Given the description of an element on the screen output the (x, y) to click on. 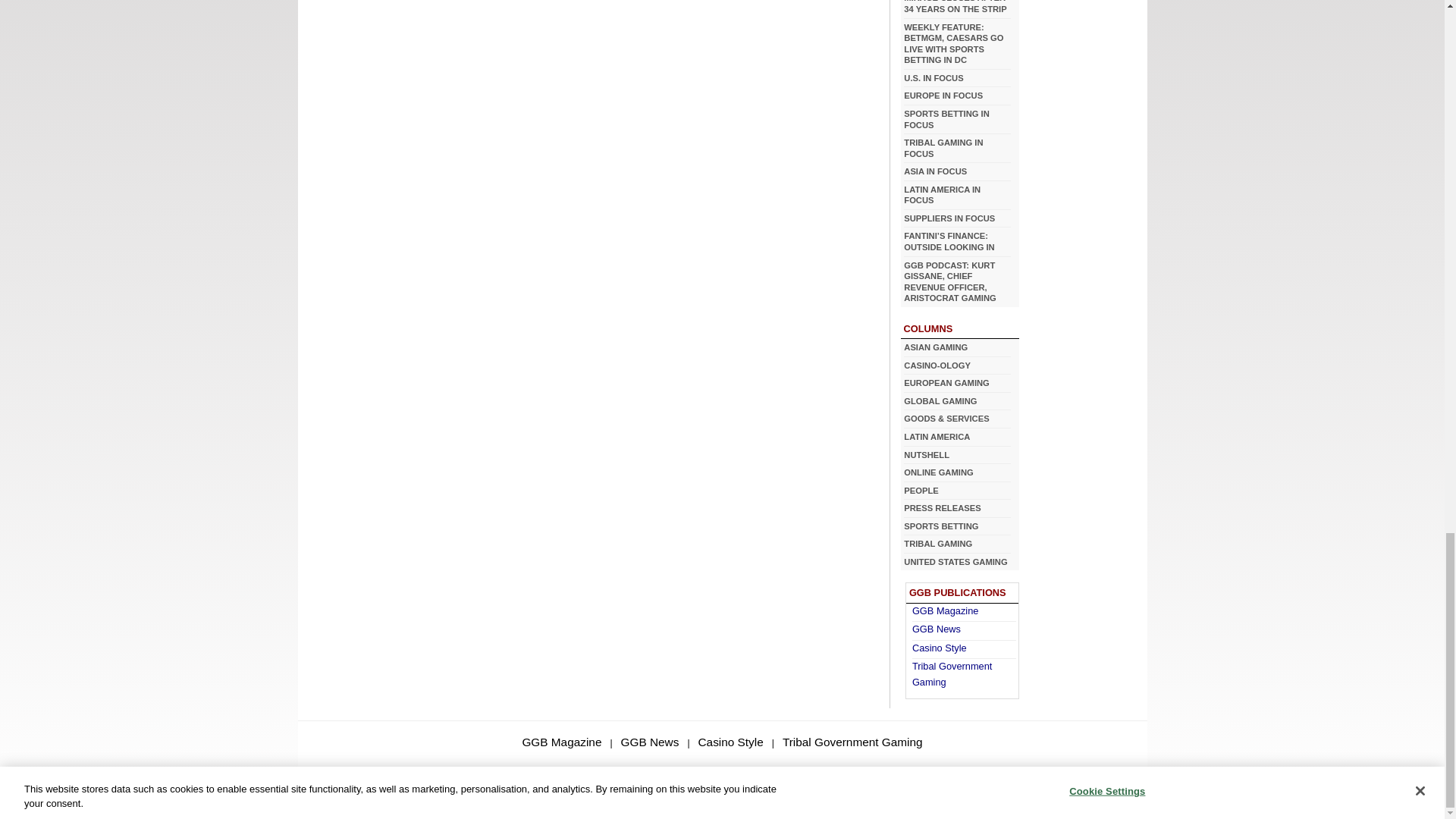
The Racing and Gaming Conference at Saratoga (972, 44)
